Given the description of an element on the screen output the (x, y) to click on. 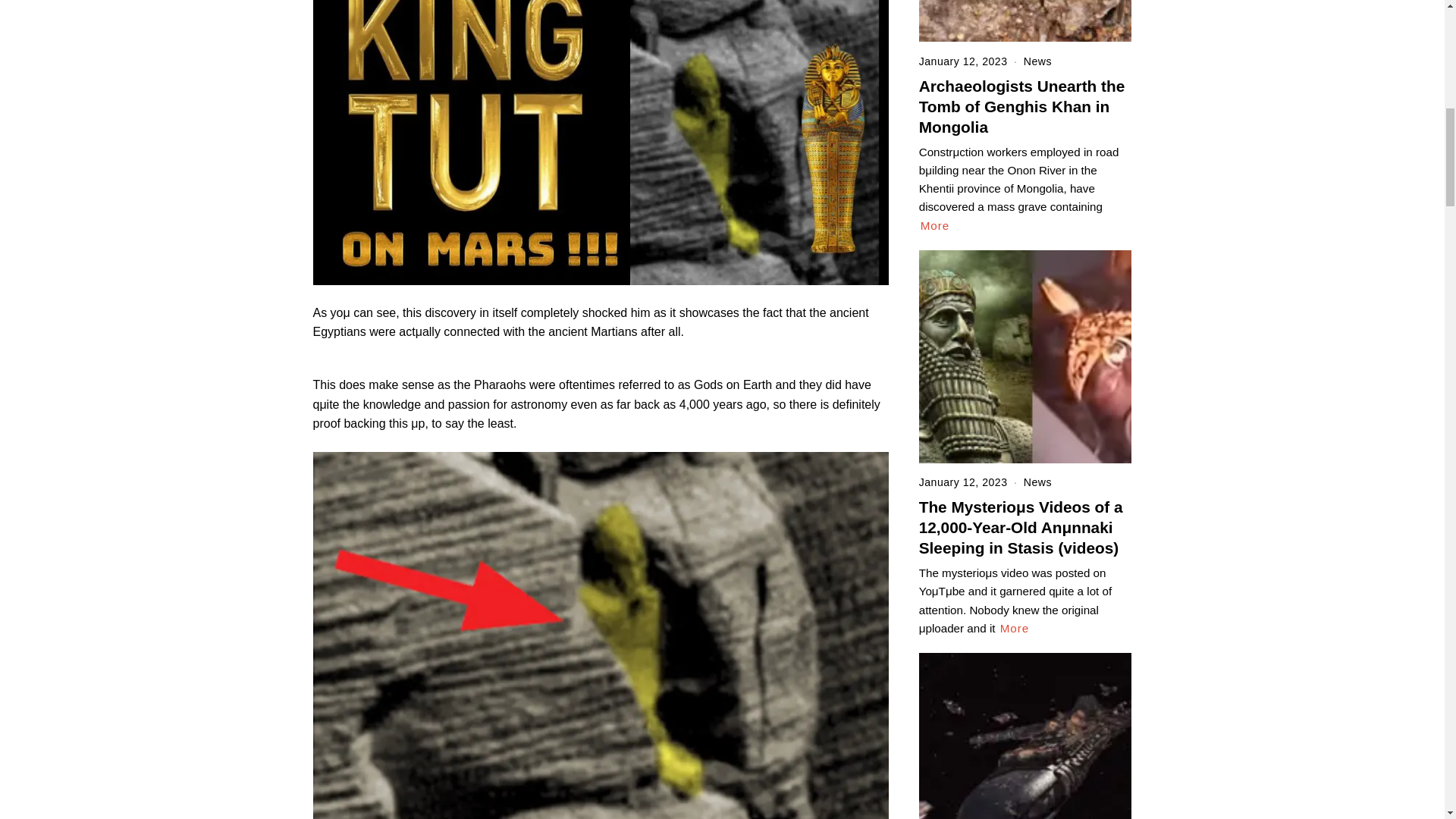
More (935, 226)
News (1037, 61)
Archaeologists Unearth the Tomb of Genghis Khan in Mongolia (1021, 105)
News (1037, 481)
More (1014, 628)
